Given the description of an element on the screen output the (x, y) to click on. 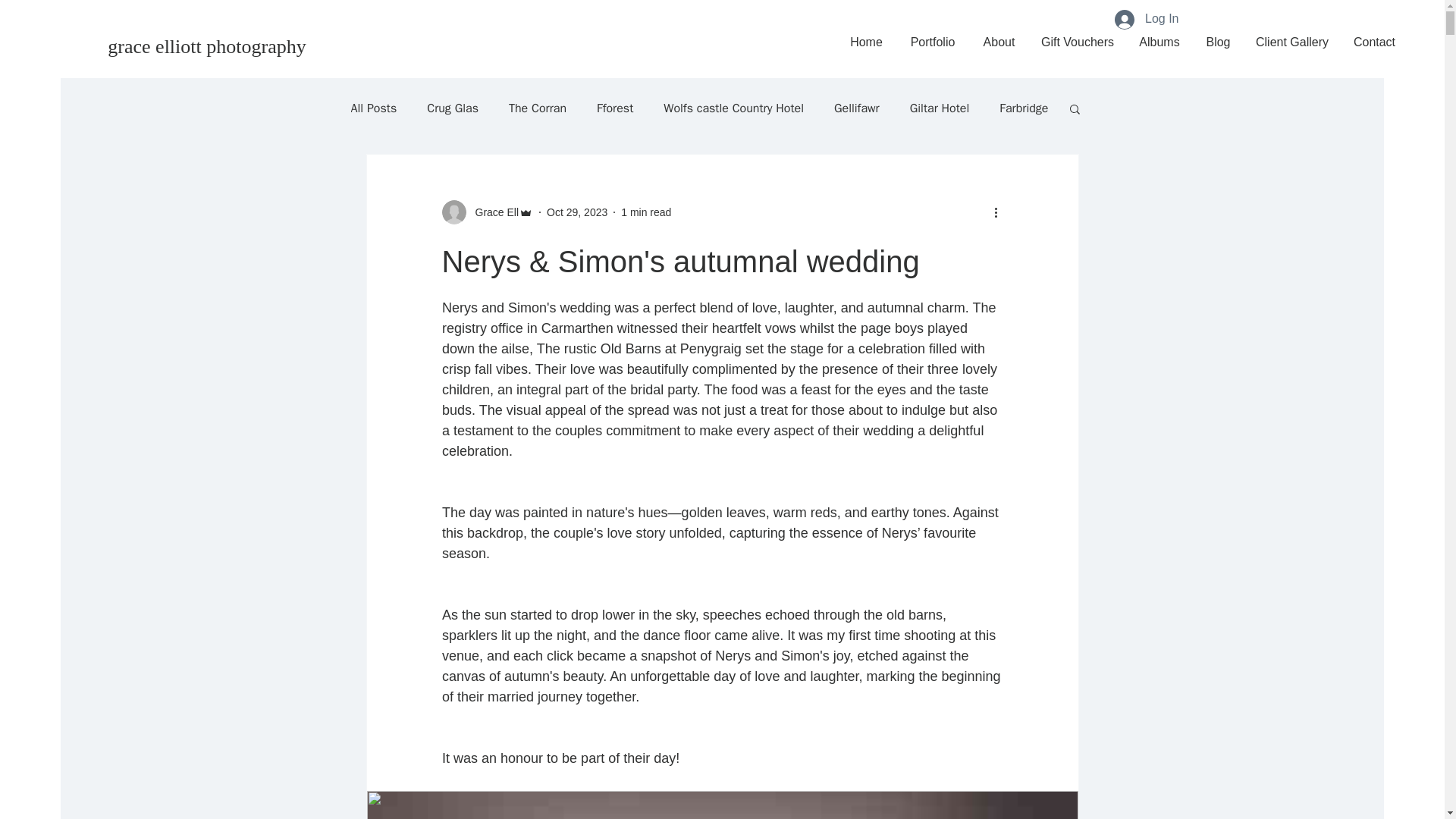
Crug Glas (452, 107)
Farbridge (1023, 107)
Home (865, 42)
Oct 29, 2023 (577, 212)
Giltar Hotel (939, 107)
Grace Ell (491, 212)
Gift Vouchers (1077, 42)
All Posts (373, 107)
1 min read (646, 212)
Grace Ell (486, 211)
